Given the description of an element on the screen output the (x, y) to click on. 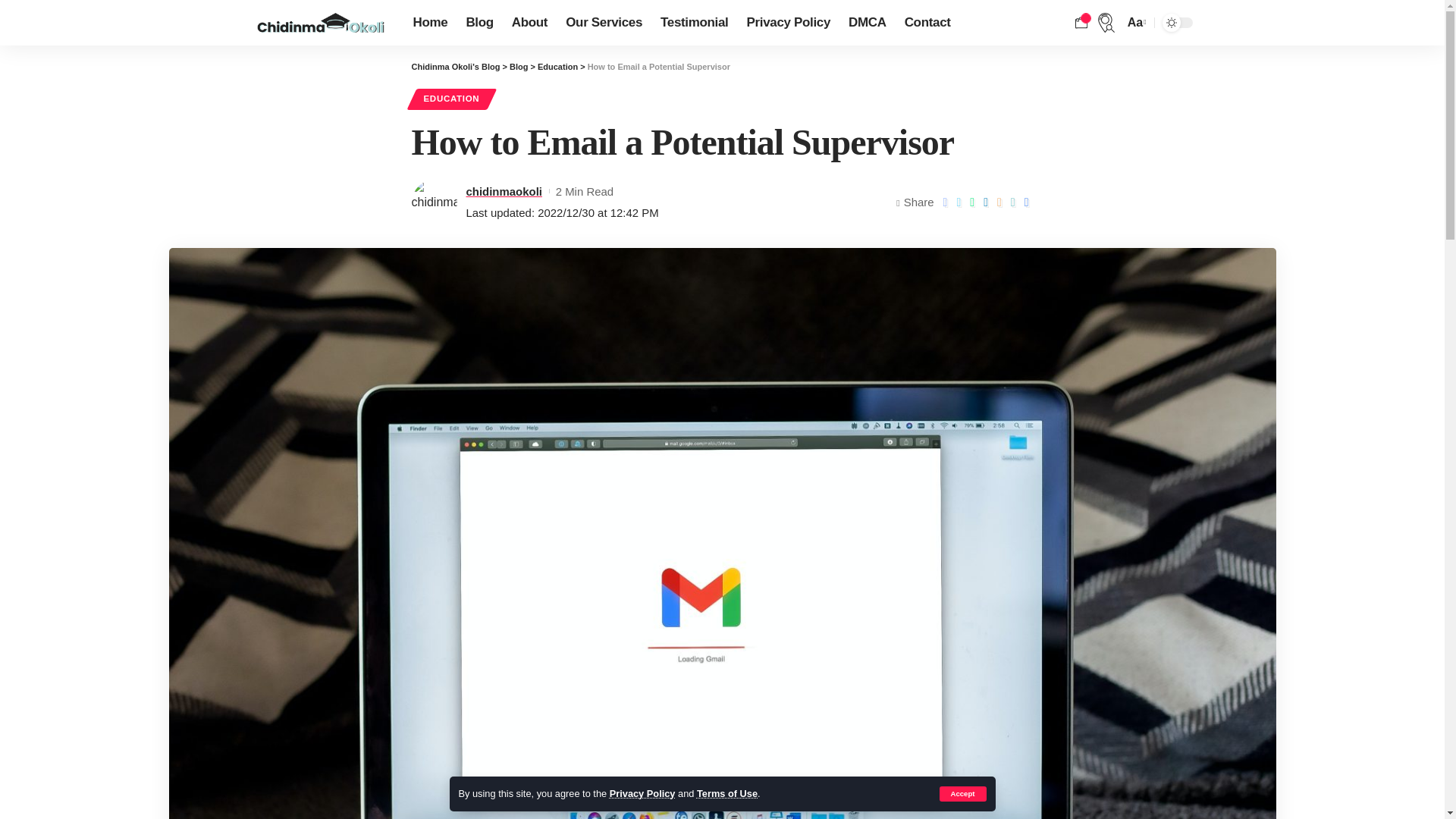
DMCA (867, 22)
Terms of Use (727, 793)
Privacy Policy (788, 22)
About (529, 22)
Testimonial (693, 22)
Blog (479, 22)
Our Services (603, 22)
Go to Chidinma Okoli's Blog. (454, 66)
Chidinma Okoli's Blog (319, 22)
Accept (962, 793)
